Given the description of an element on the screen output the (x, y) to click on. 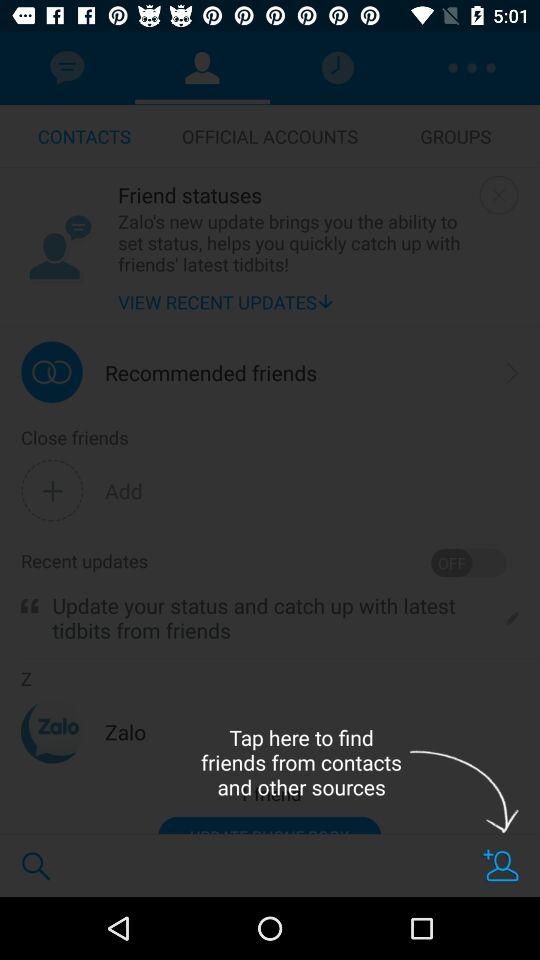
choose item to the right of contacts item (269, 136)
